Given the description of an element on the screen output the (x, y) to click on. 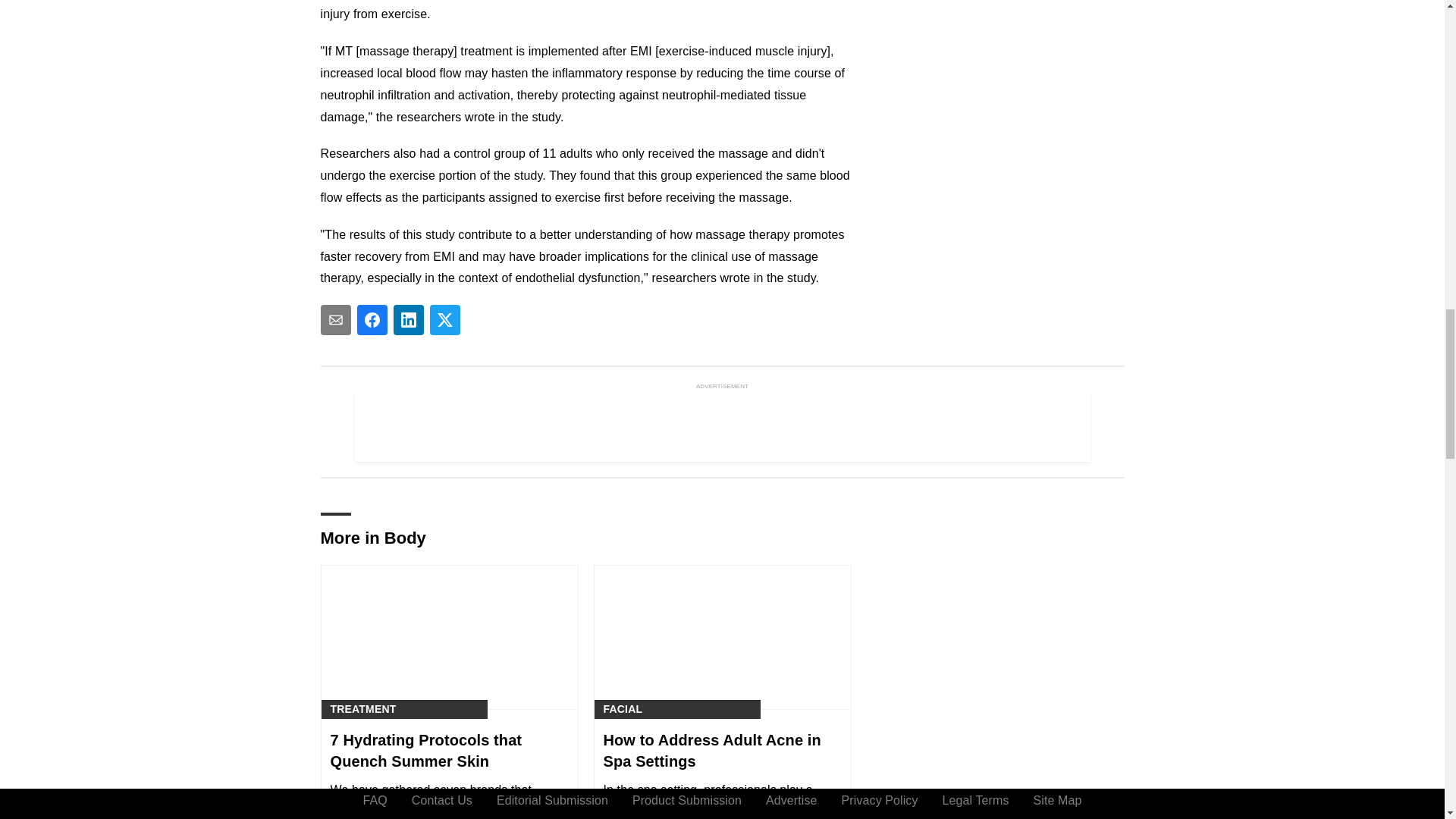
Share To twitter (444, 319)
Share To email (335, 319)
Share To linkedin (408, 319)
Share To facebook (371, 319)
